Given the description of an element on the screen output the (x, y) to click on. 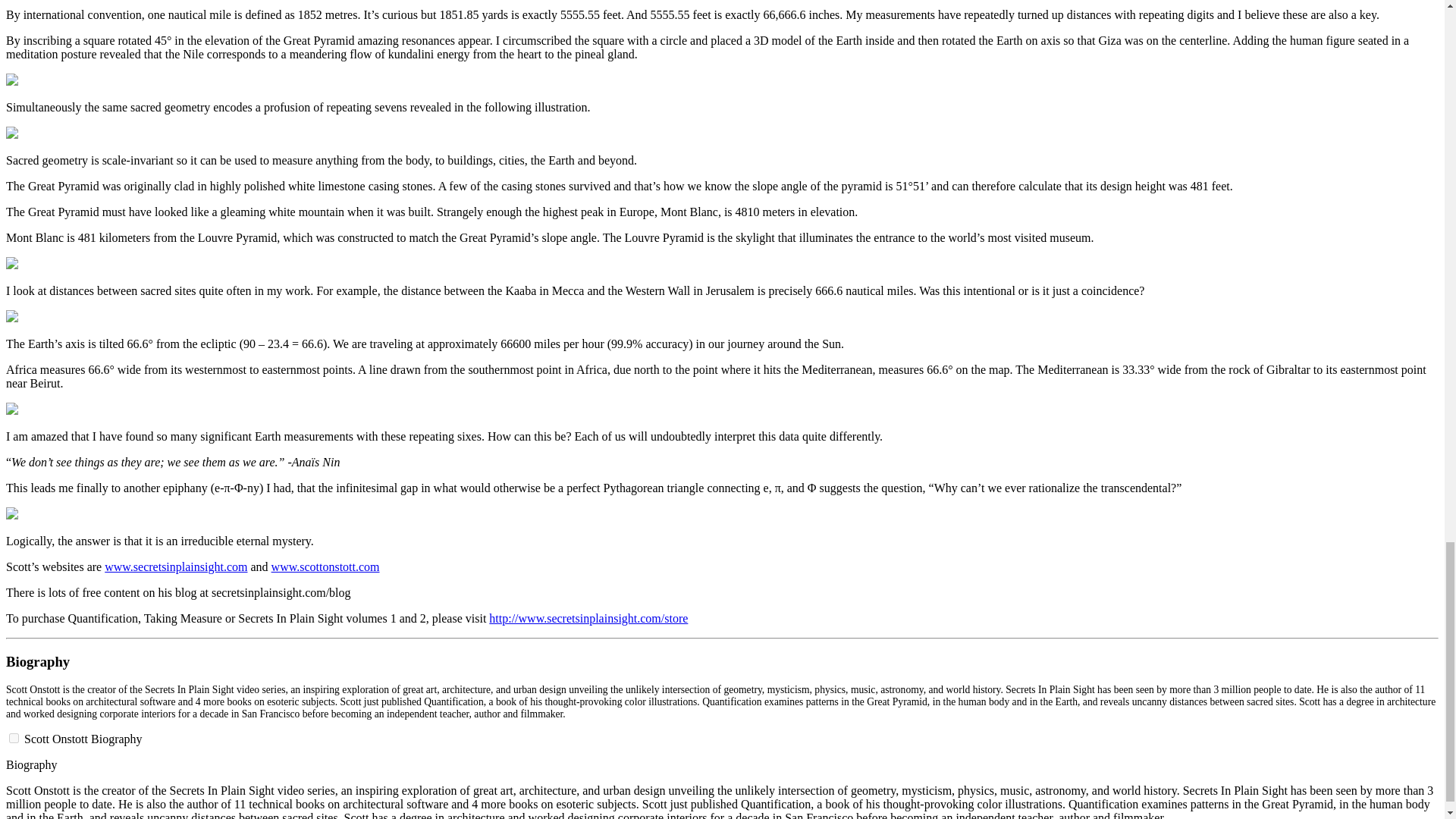
on (13, 737)
